Given the description of an element on the screen output the (x, y) to click on. 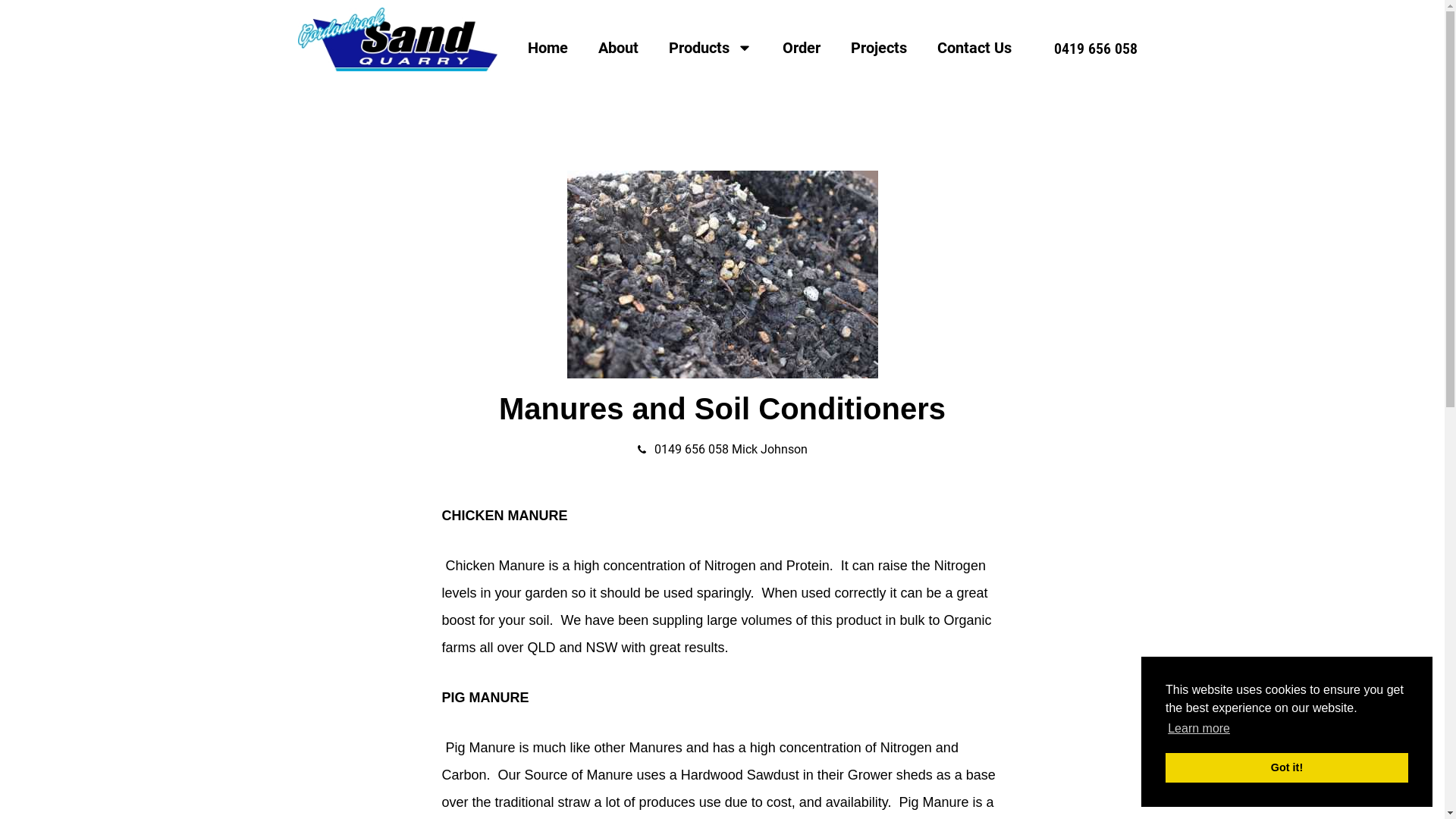
Learn more Element type: text (1198, 728)
Home Element type: text (547, 47)
About Element type: text (617, 47)
Contact Us Element type: text (974, 47)
Skip to content Element type: text (11, 31)
Got it! Element type: text (1286, 767)
Products Element type: text (710, 47)
Order Element type: text (801, 47)
Projects Element type: text (878, 47)
